Given the description of an element on the screen output the (x, y) to click on. 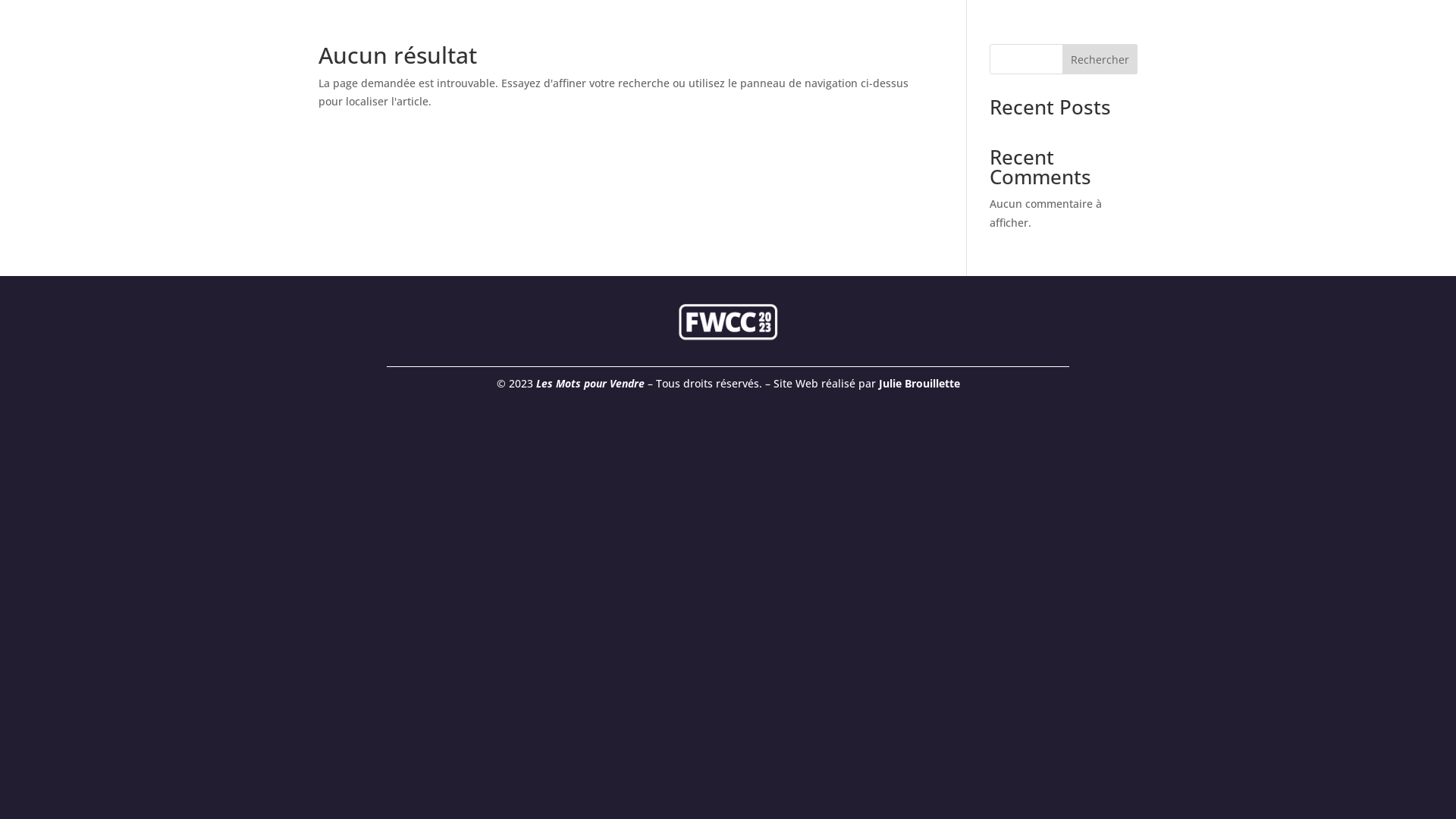
Les Mots pour Vendre Element type: text (589, 383)
Rechercher Element type: text (1099, 58)
Julie Brouillette Element type: text (918, 383)
FWCC2023_miniSign_Blanc Element type: hover (727, 322)
